Given the description of an element on the screen output the (x, y) to click on. 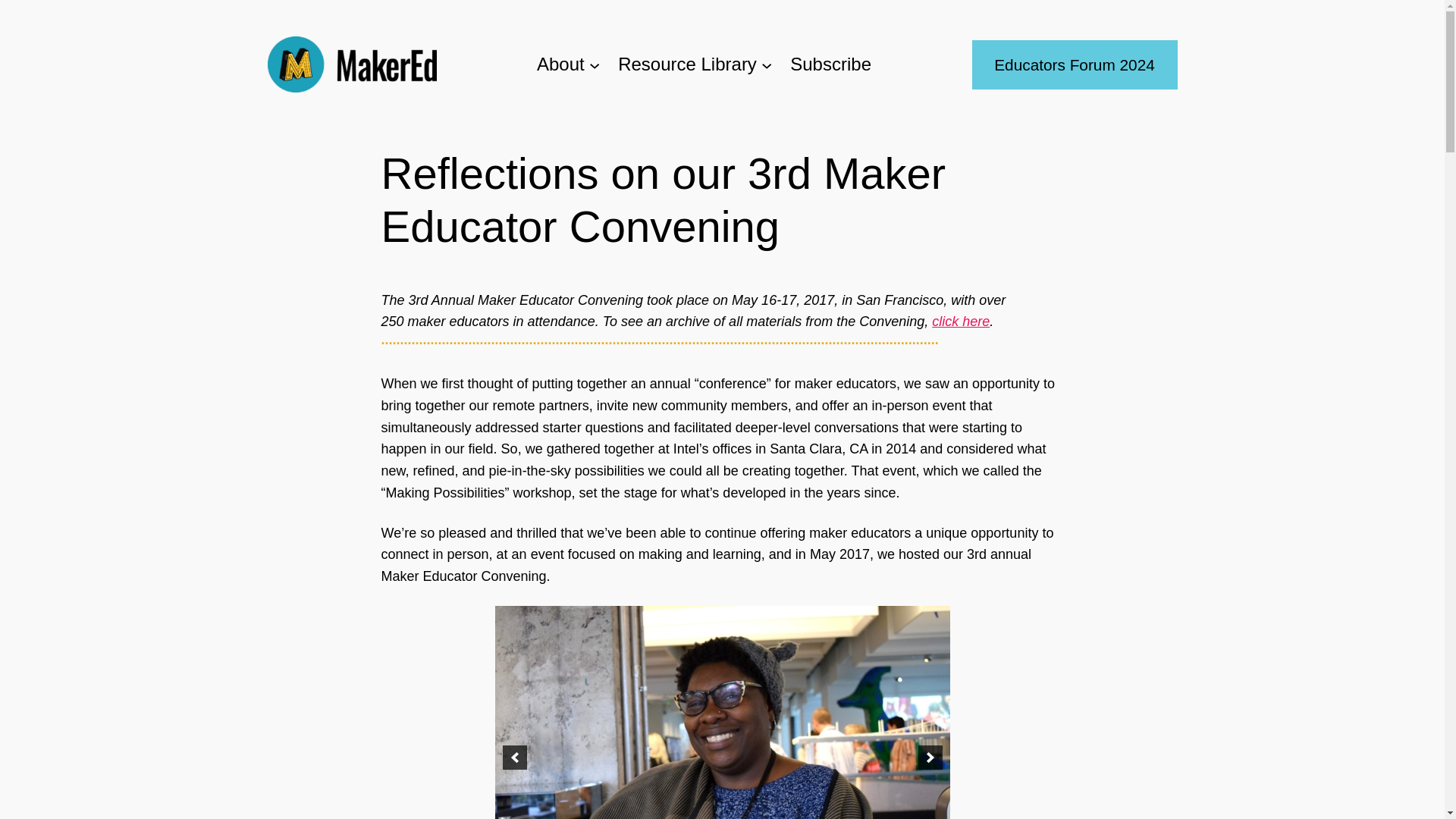
Resource Library (687, 63)
About (561, 63)
Educators Forum 2024 (1074, 64)
click here (960, 321)
Subscribe (830, 63)
